Given the description of an element on the screen output the (x, y) to click on. 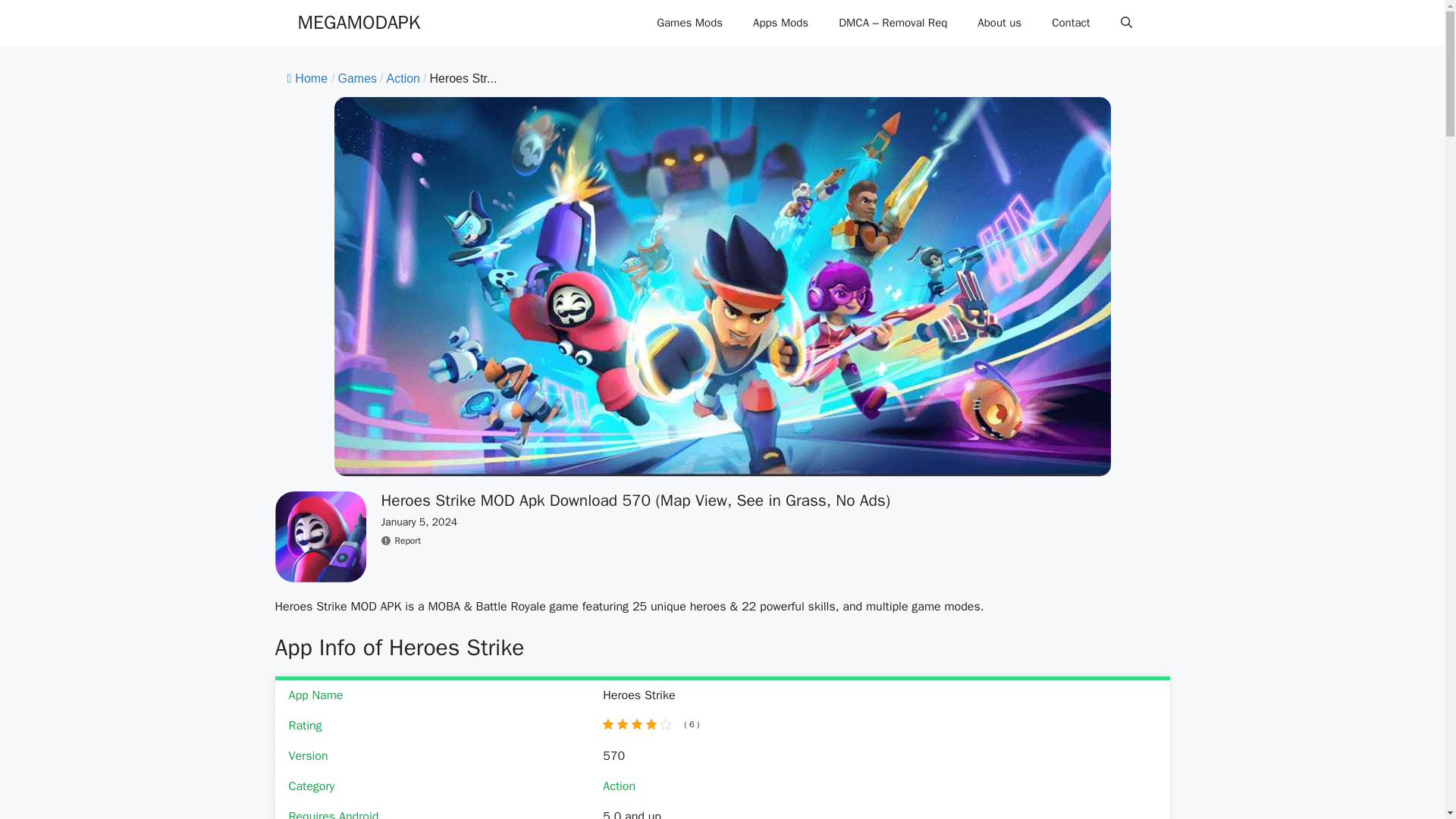
Games (357, 78)
Contact (1070, 22)
Action (403, 78)
Action (618, 785)
Apps Mods (781, 22)
About us (999, 22)
MEGAMODAPK (358, 22)
Action (403, 78)
Category Name (357, 78)
Home (306, 78)
